Given the description of an element on the screen output the (x, y) to click on. 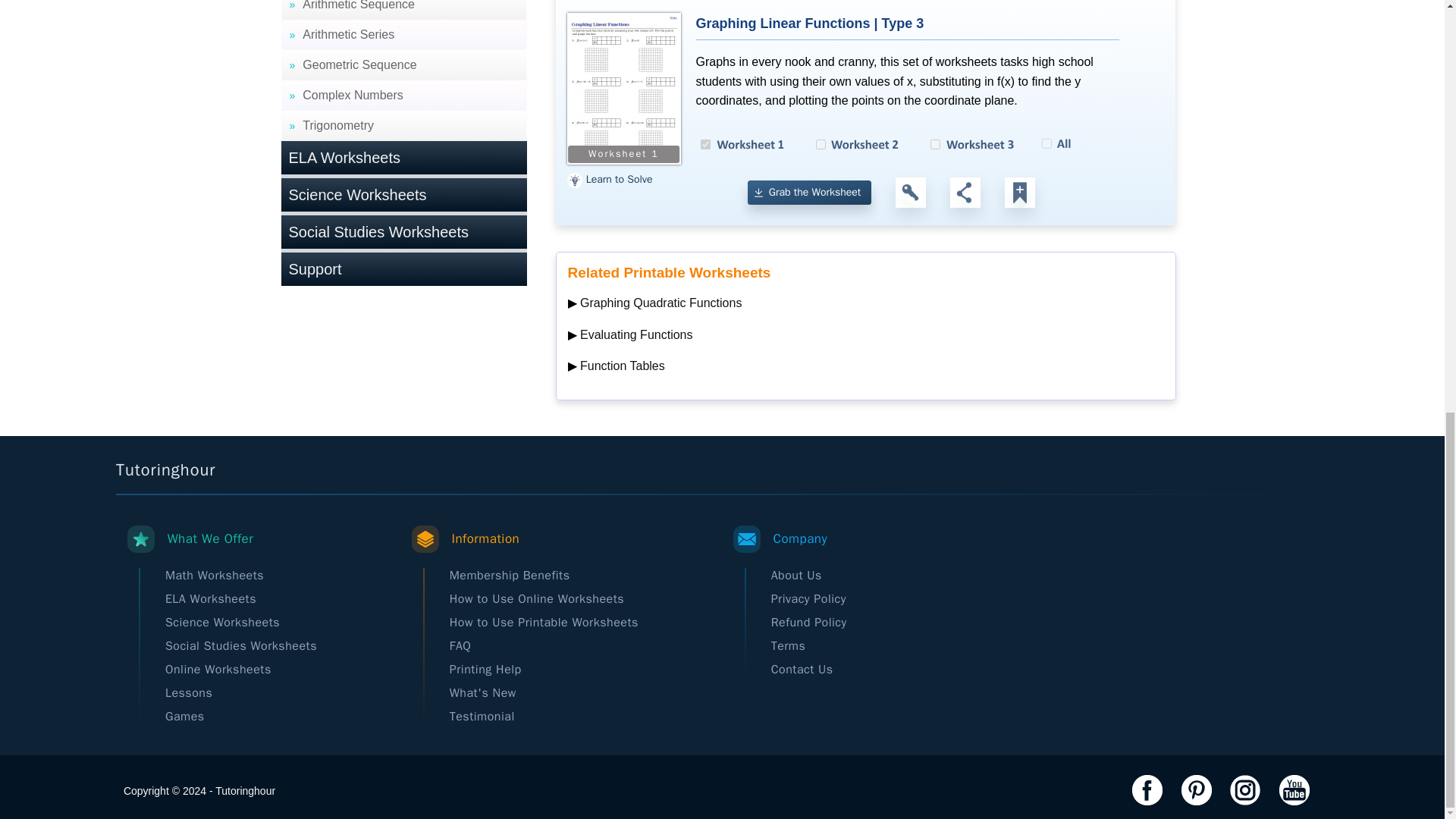
on (820, 144)
on (935, 144)
on (705, 144)
